Given the description of an element on the screen output the (x, y) to click on. 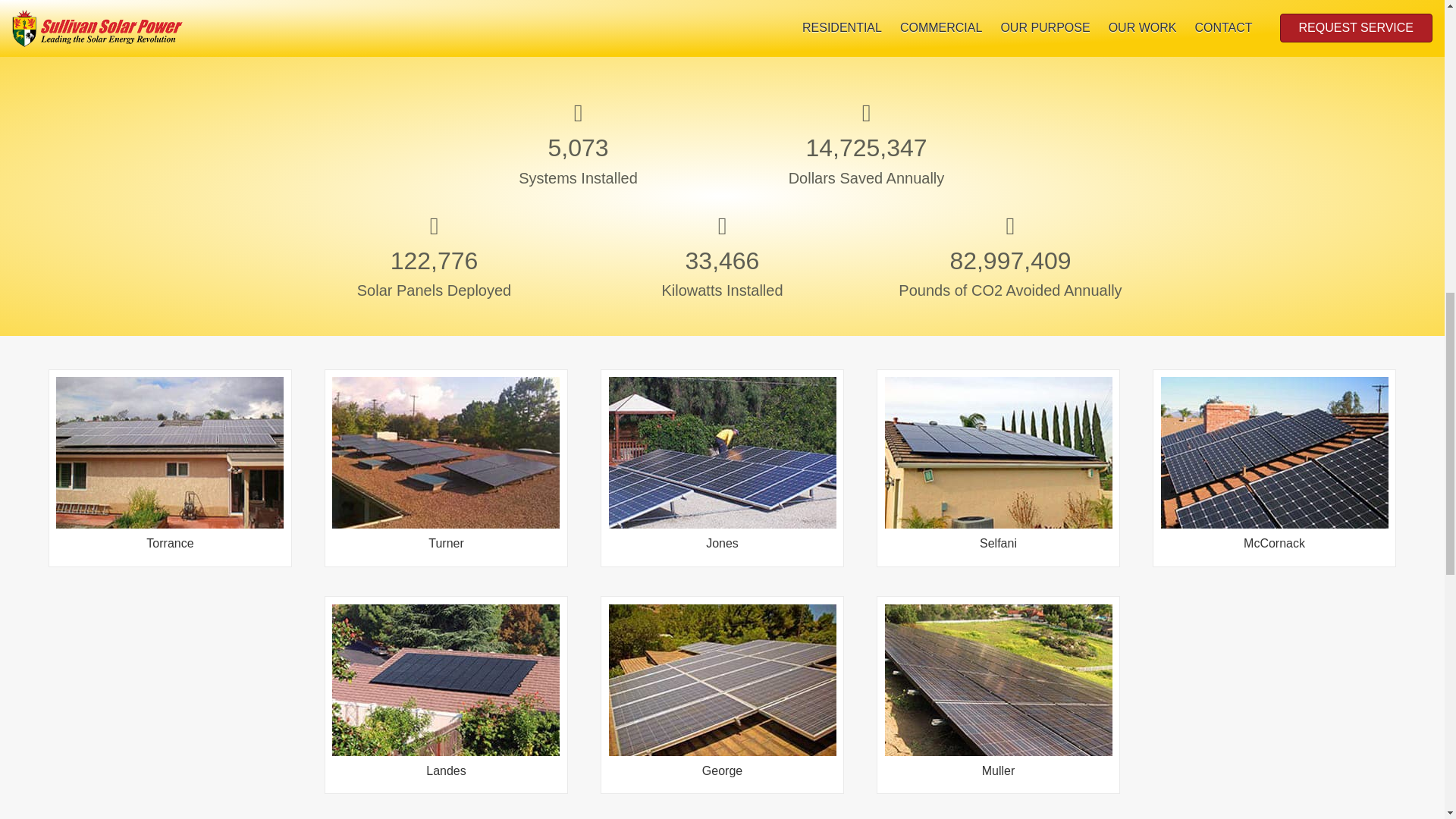
George (721, 729)
Jones (721, 501)
Muller (998, 729)
Landes (445, 729)
Turner (445, 501)
Torrance (169, 501)
Selfani (998, 501)
McCornack (1274, 501)
